Given the description of an element on the screen output the (x, y) to click on. 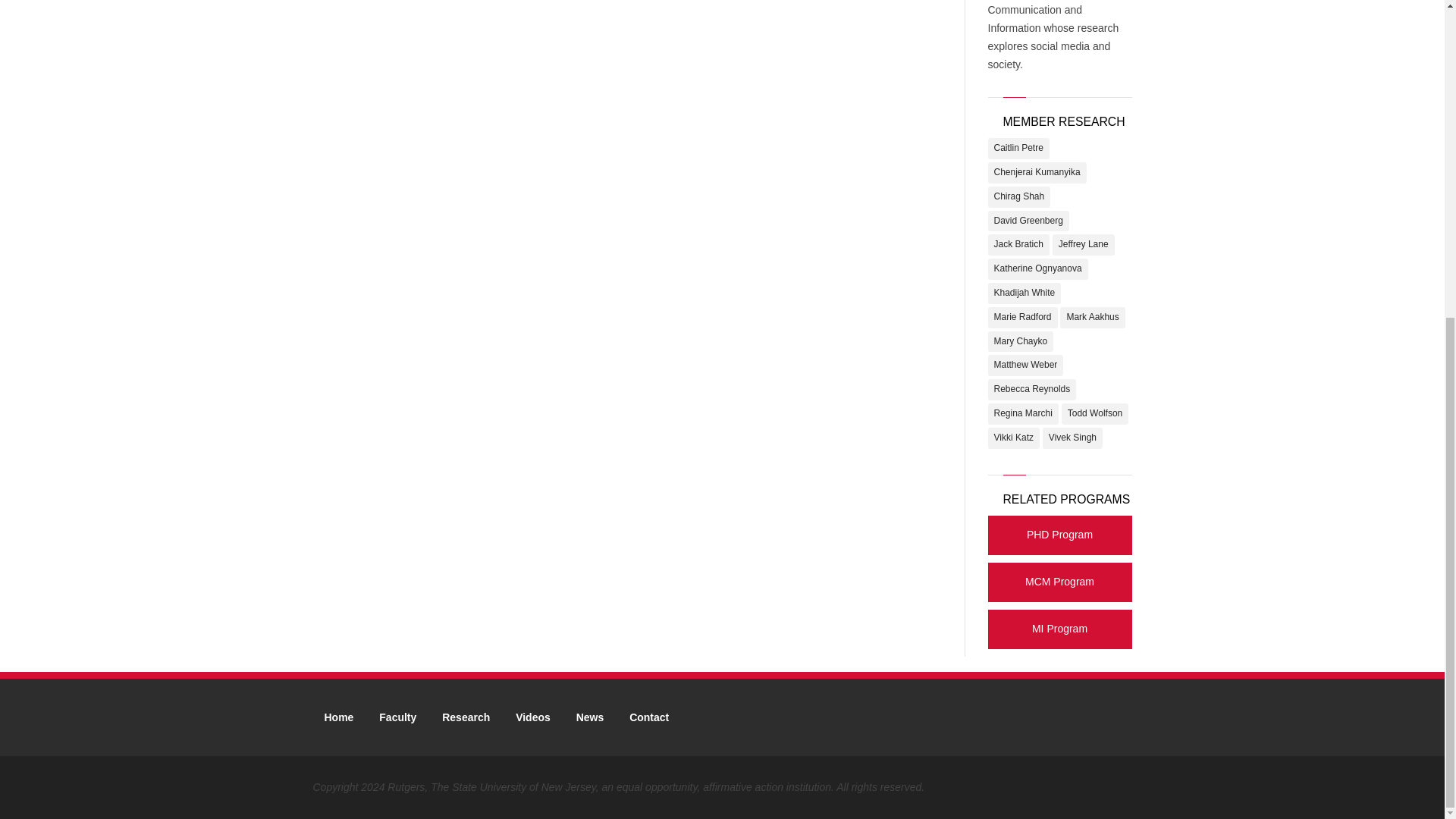
Matthew Weber (1024, 364)
MCM Program (1059, 583)
Vivek Singh (1072, 437)
PHD Program (1059, 536)
Khadijah White (1024, 292)
Chirag Shah (1018, 197)
Caitlin Petre (1017, 148)
Mark Aakhus (1091, 317)
Chenjerai Kumanyika (1036, 172)
Home (339, 717)
